Given the description of an element on the screen output the (x, y) to click on. 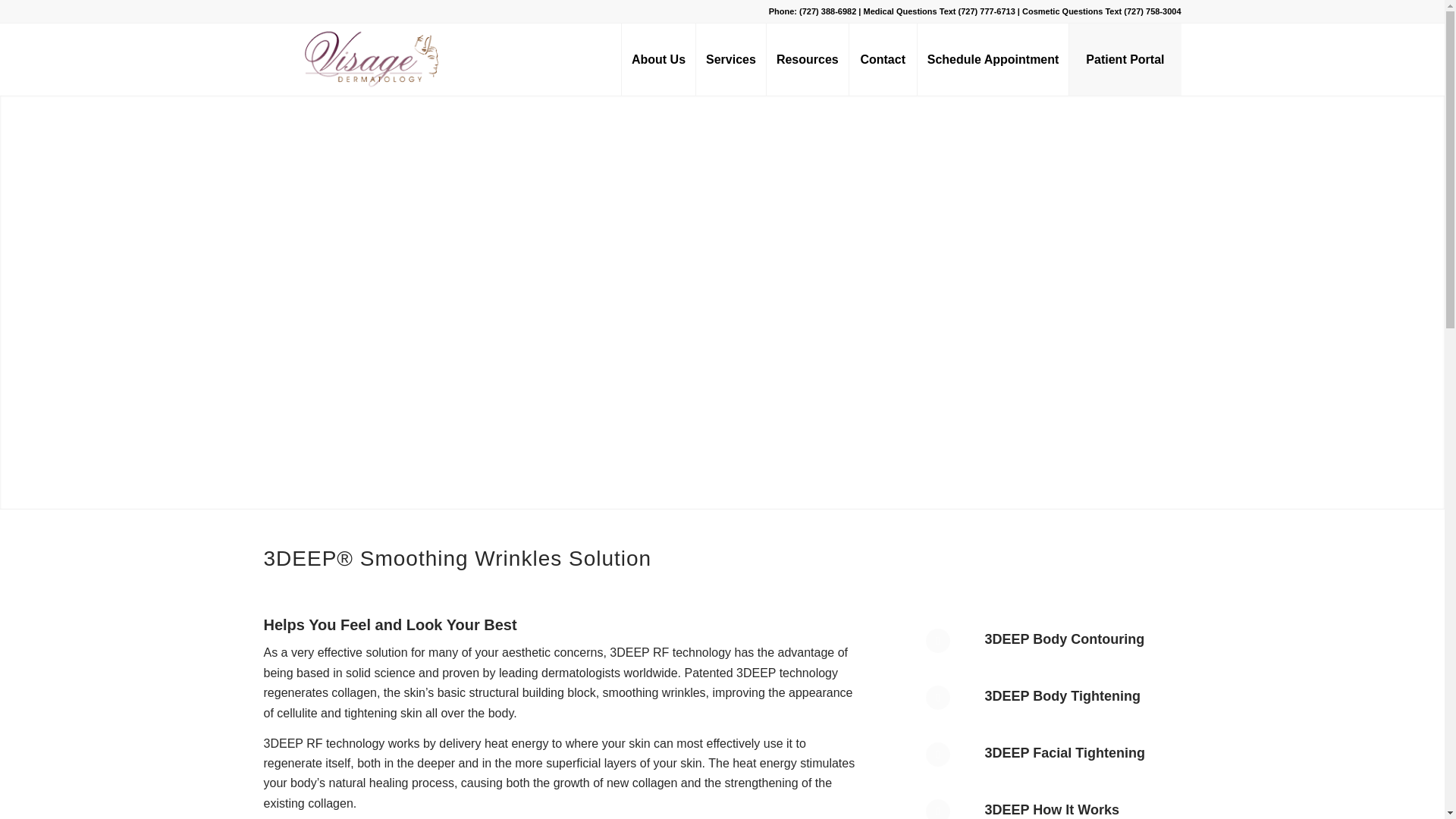
3DEEP Facial Tightening (950, 766)
3DEEP Body Tightening (950, 709)
3DEEP How It Works (950, 809)
3DEEP Facial Tightening (1064, 752)
3DEEP Body Tightening (1062, 695)
Services (730, 59)
3DEEP Body Contouring (950, 652)
3DEEP Body Contouring (1064, 639)
About Us (658, 59)
3DEEP How It Works (1052, 809)
